Given the description of an element on the screen output the (x, y) to click on. 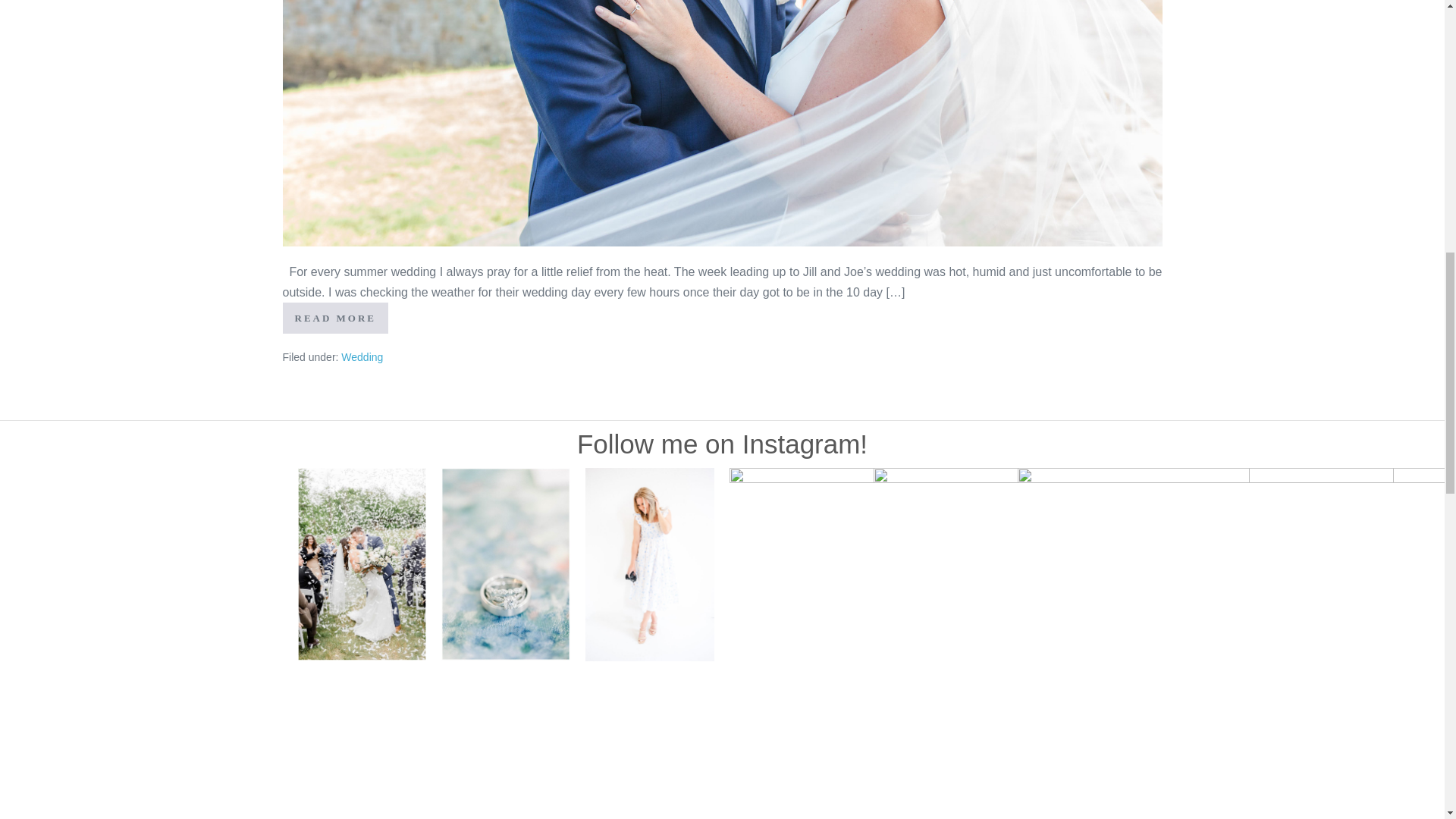
Wedding (361, 357)
READ MORE (335, 317)
Follow me on Instagram! (721, 443)
